Given the description of an element on the screen output the (x, y) to click on. 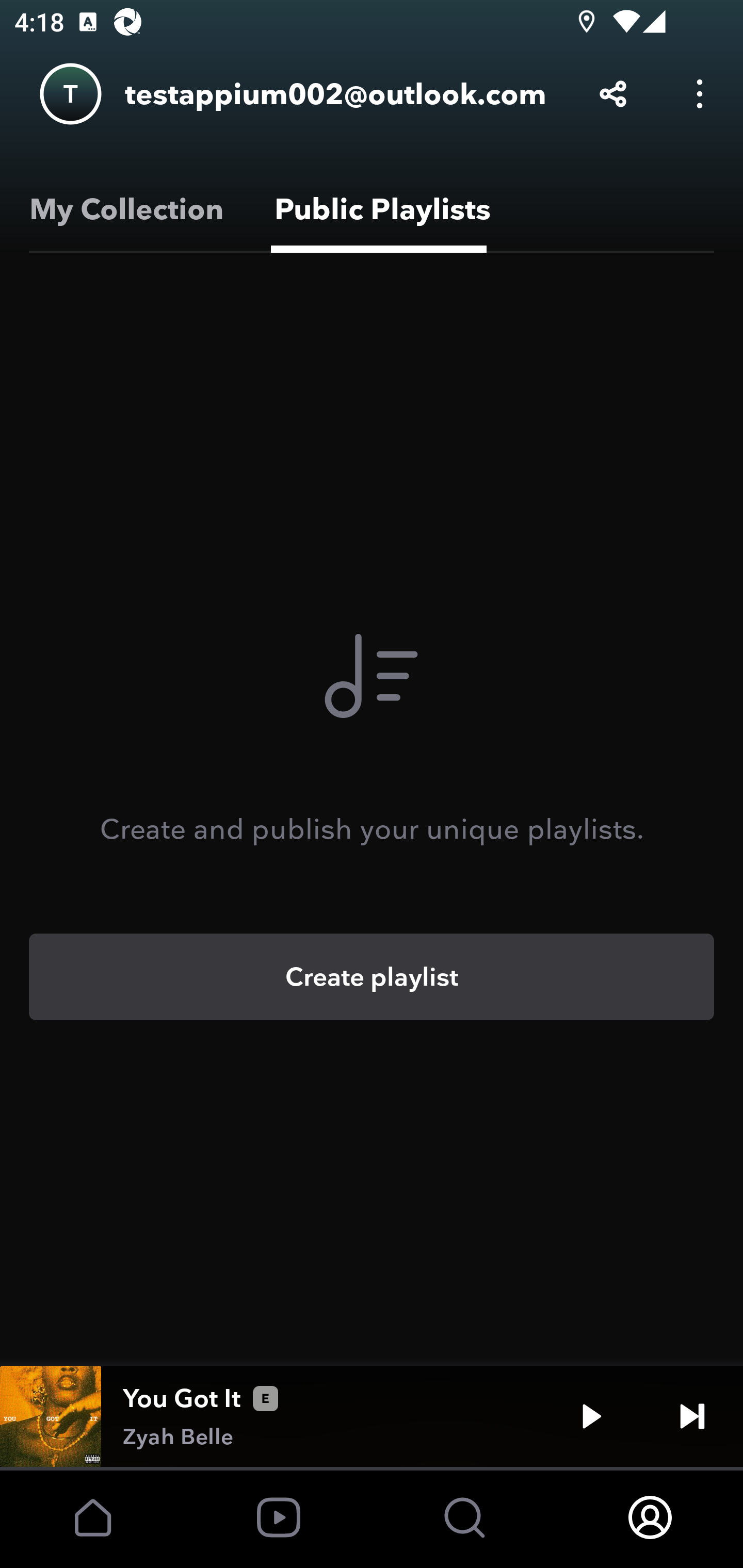
Share (612, 93)
Options (699, 93)
My Collection (122, 209)
Create playlist (371, 976)
You Got It    Zyah Belle Play (371, 1416)
Play (590, 1416)
